Given the description of an element on the screen output the (x, y) to click on. 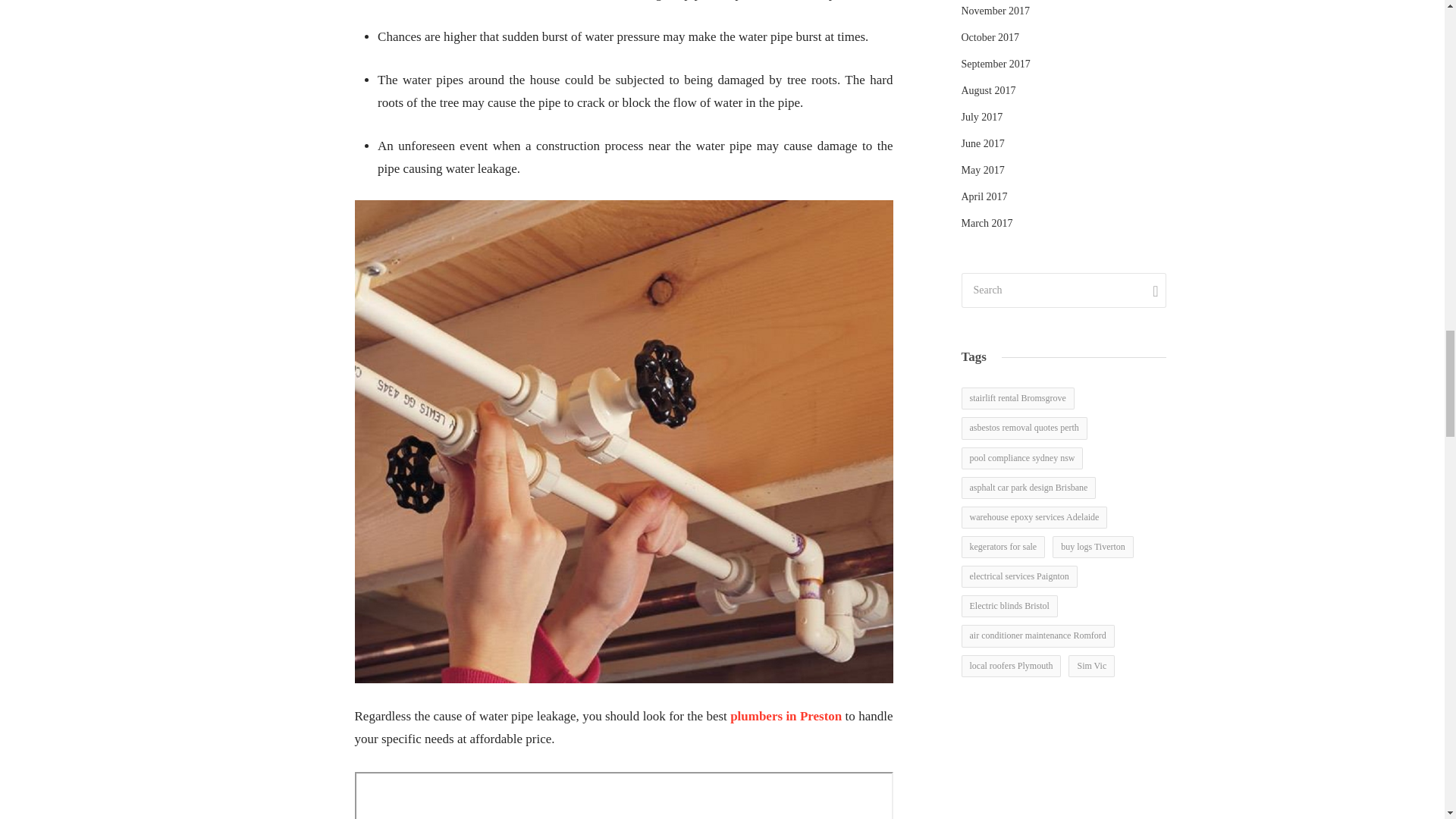
plumbers in Preston (785, 716)
